Given the description of an element on the screen output the (x, y) to click on. 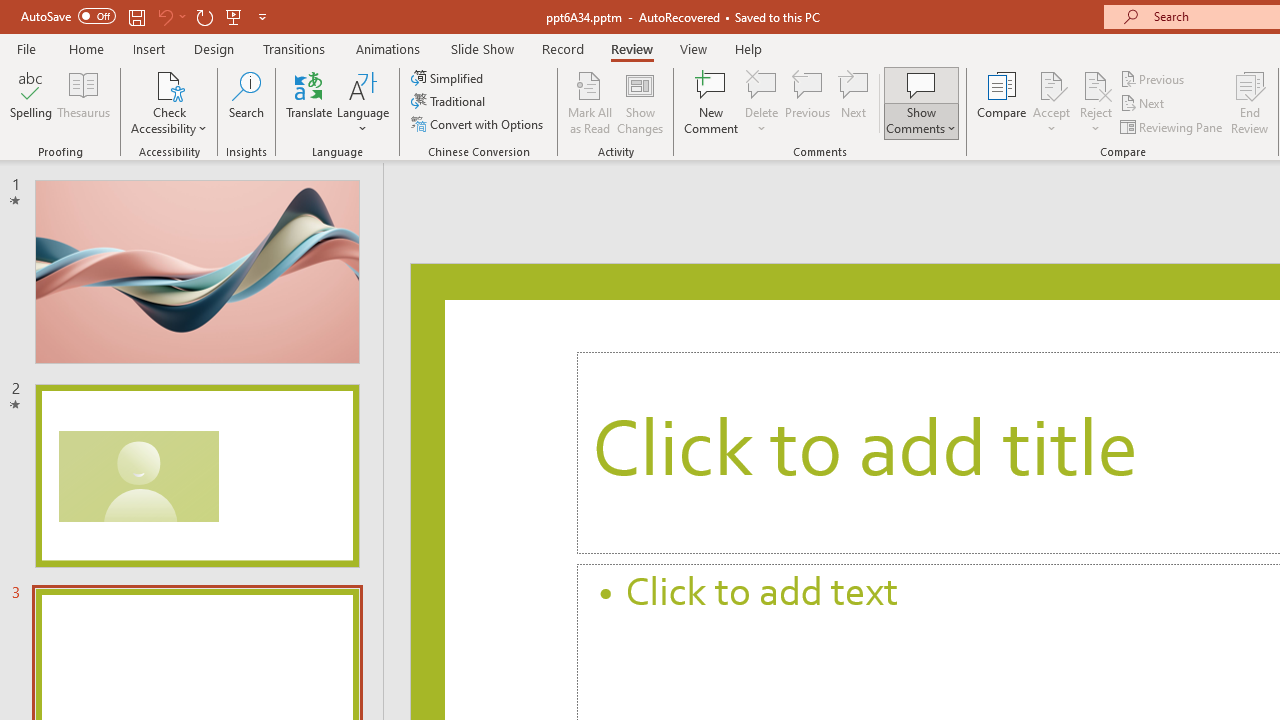
Thesaurus... (83, 102)
End Review (1249, 102)
